Given the description of an element on the screen output the (x, y) to click on. 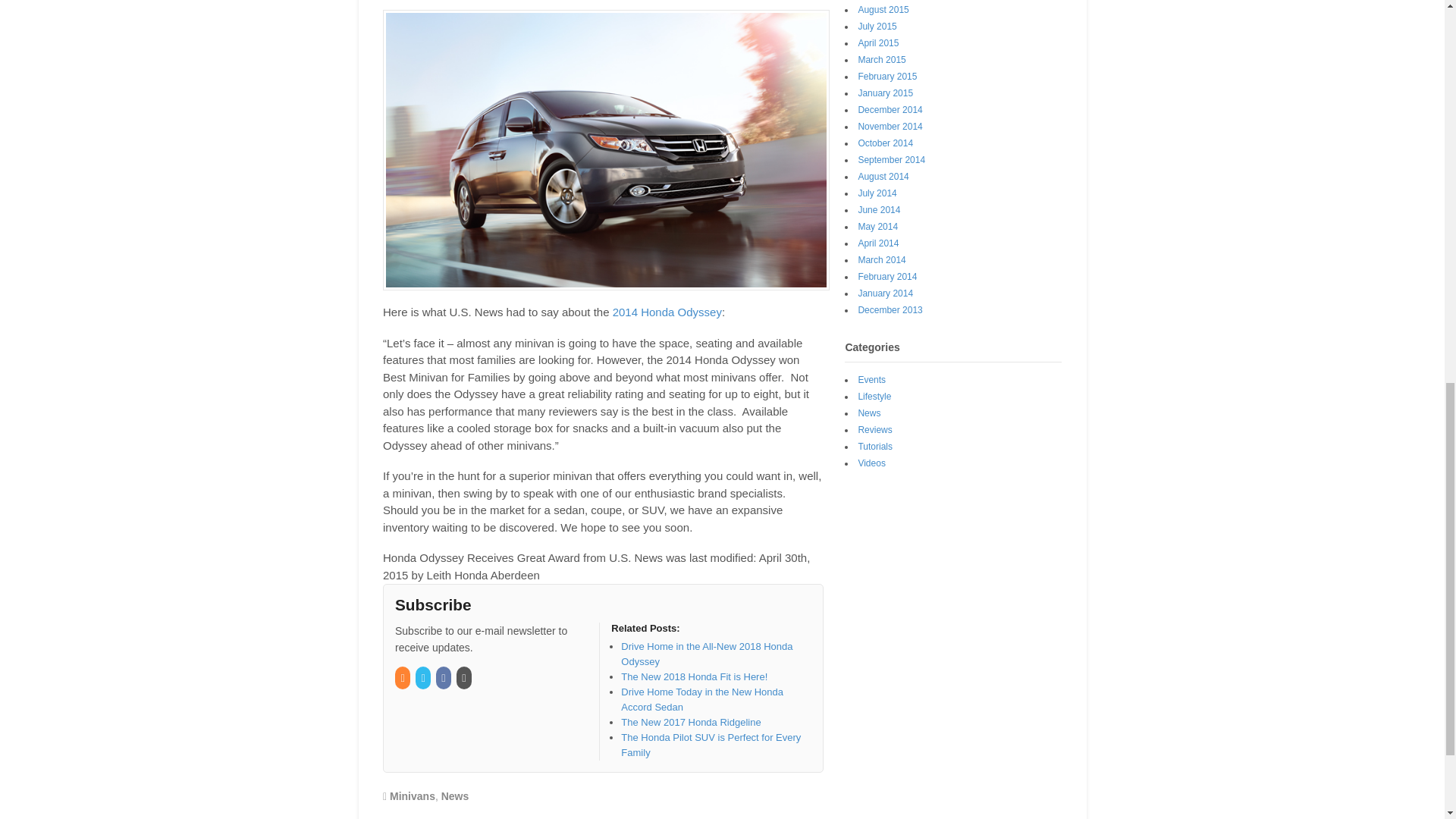
Drive Home in the All-New 2018 Honda Odyssey (706, 653)
The New 2017 Honda Ridgeline (690, 722)
Drive Home Today in the New Honda Accord Sedan (702, 699)
The New 2017 Honda Ridgeline (690, 722)
Twitter (423, 677)
Facebook (443, 677)
Minivans (412, 796)
The Honda Pilot SUV is Perfect for Every Family (710, 745)
The New 2018 Honda Fit is Here! (694, 676)
News (454, 796)
